Given the description of an element on the screen output the (x, y) to click on. 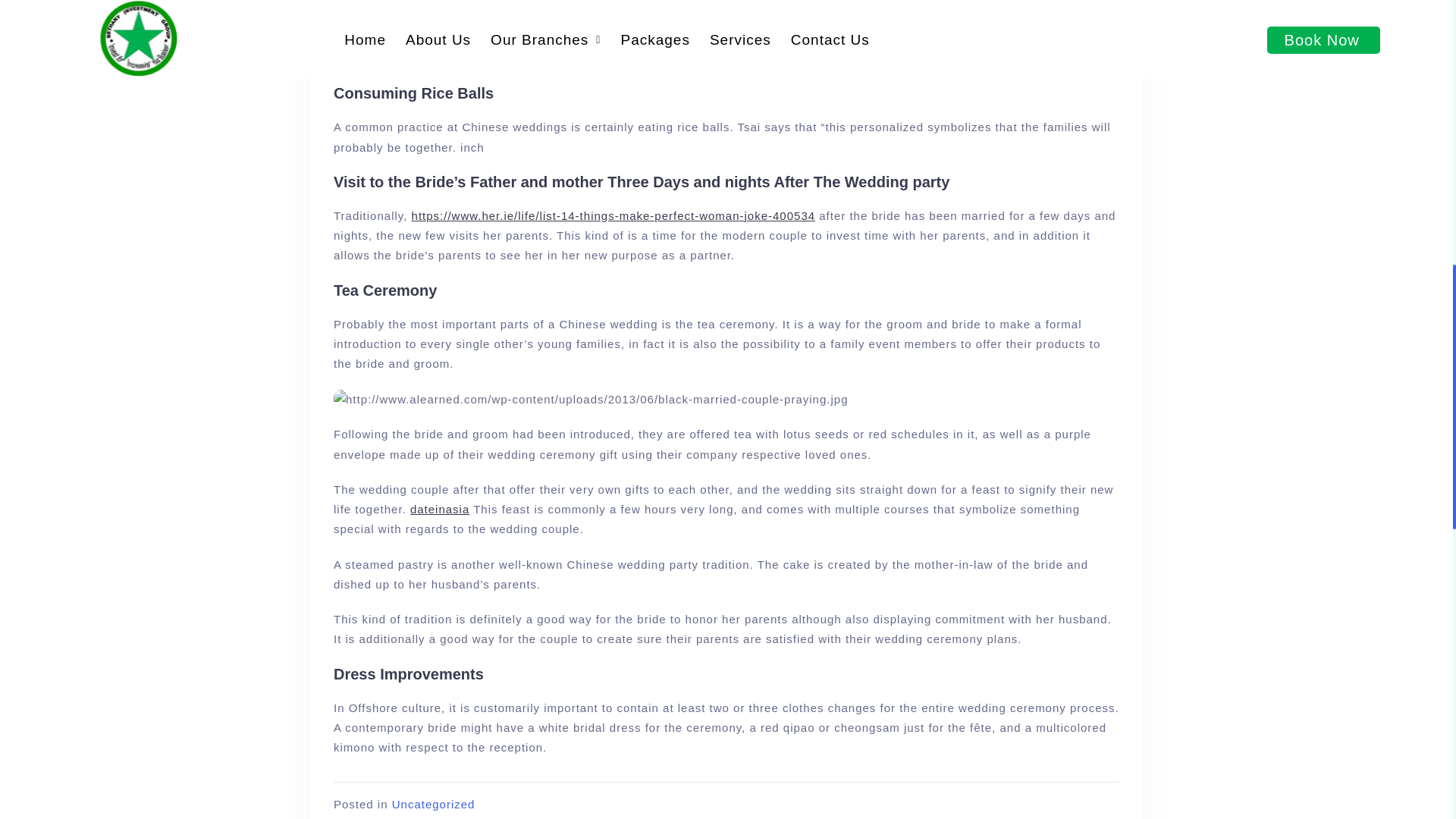
dateinasia (439, 508)
Uncategorized (433, 803)
